Given the description of an element on the screen output the (x, y) to click on. 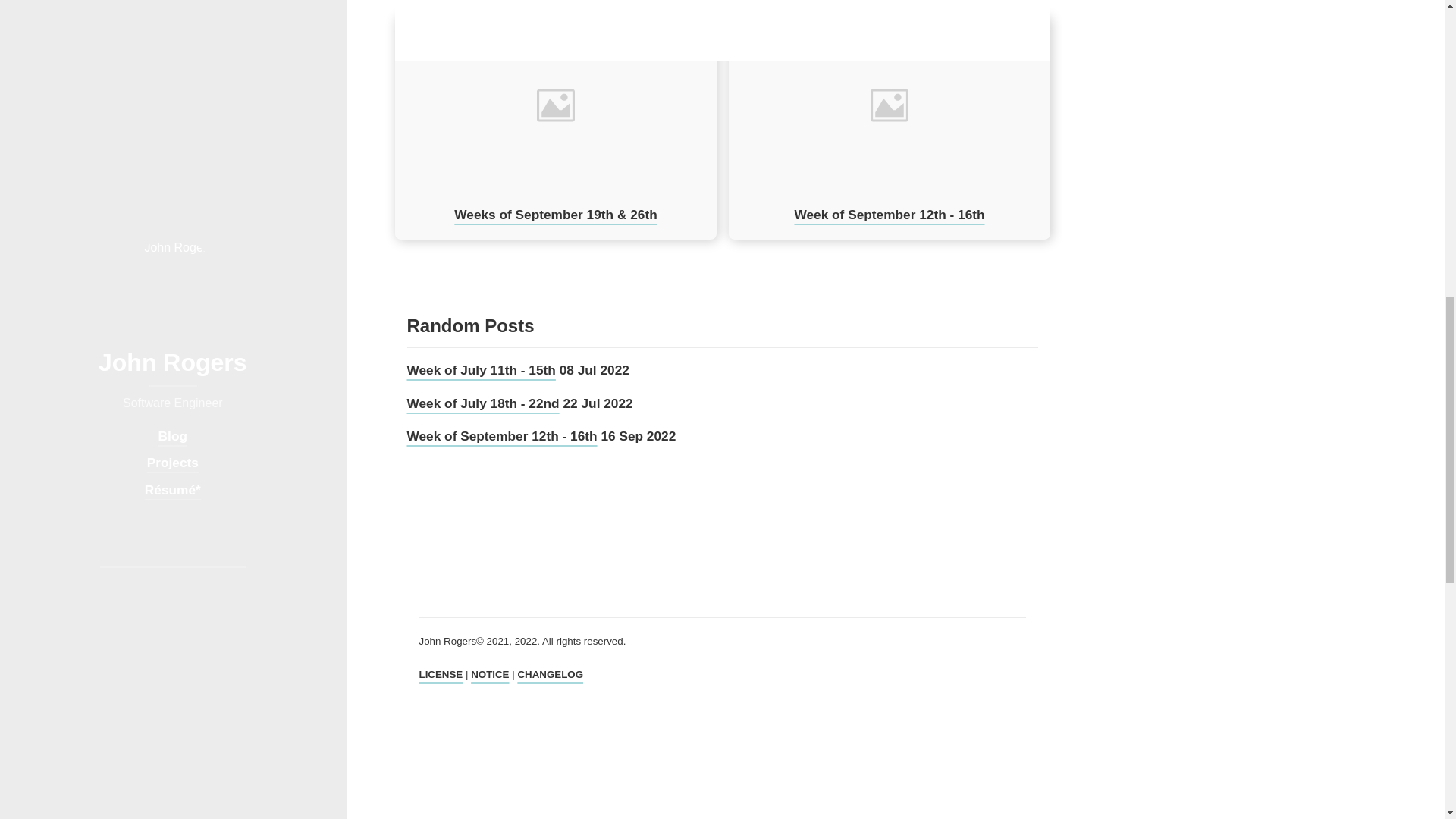
Week of September 12th - 16th (501, 435)
LICENSE (441, 674)
Week of July 11th - 15th (480, 369)
NOTICE (489, 674)
Week of July 18th - 22nd (482, 403)
Week of September 12th - 16th (888, 214)
CHANGELOG (549, 674)
